Given the description of an element on the screen output the (x, y) to click on. 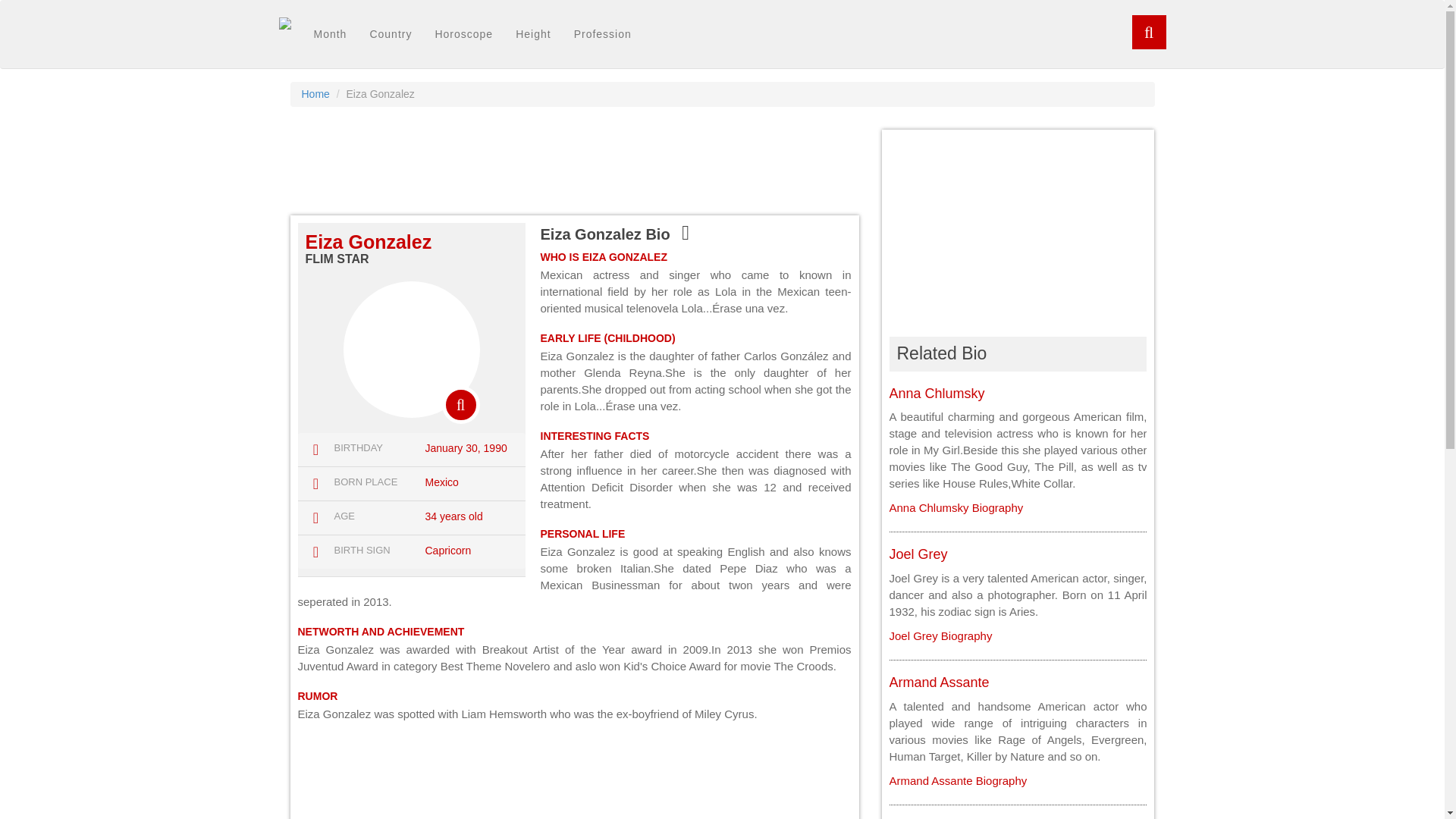
Anna Chlumsky (936, 393)
Anna Chlumsky (955, 507)
Country (390, 34)
Armand Assante (957, 780)
Anna Chlumsky Biography (955, 507)
Anna Chlumsky (936, 393)
34 years old (453, 516)
FLIM STAR (336, 258)
1990 (493, 448)
Joel Grey (917, 554)
